Given the description of an element on the screen output the (x, y) to click on. 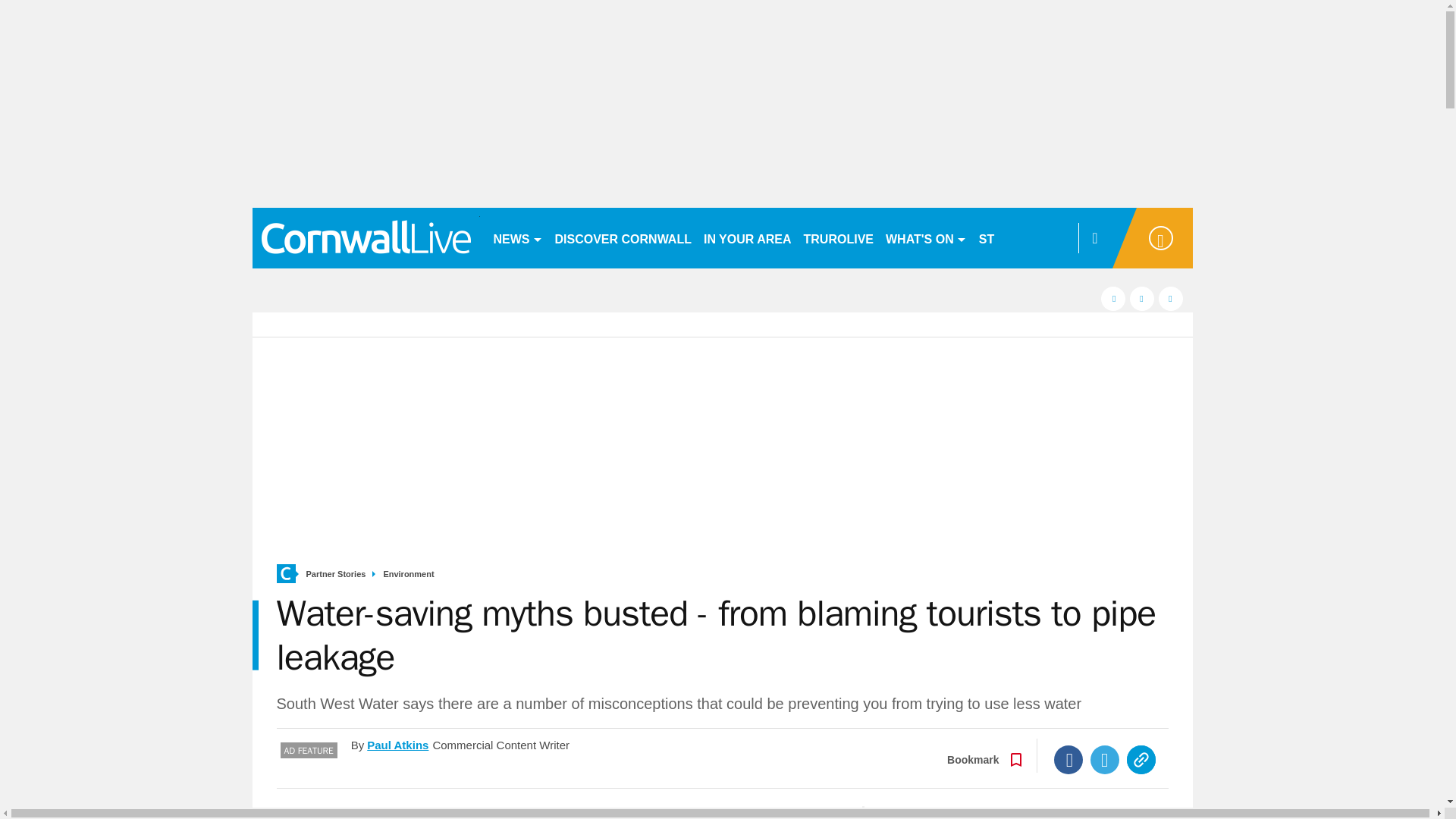
DISCOVER CORNWALL (622, 238)
WHAT'S ON (925, 238)
cornwalllive (365, 238)
ST AUSTELL (1015, 238)
TRUROLIVE (838, 238)
Twitter (1104, 759)
NEWS (517, 238)
instagram (1170, 298)
facebook (1112, 298)
Facebook (1068, 759)
